Given the description of an element on the screen output the (x, y) to click on. 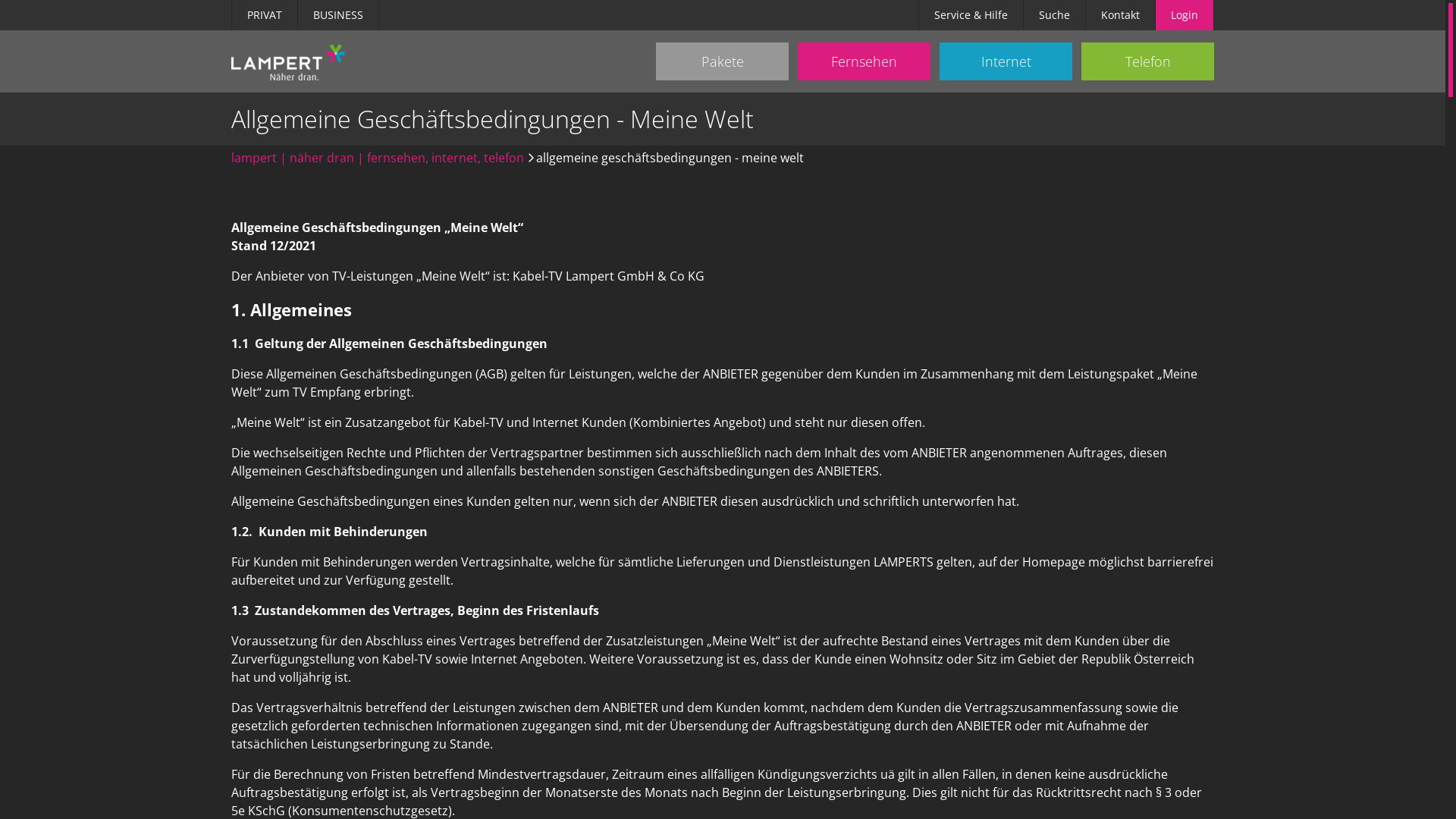
Telefon Element type: text (1147, 61)
Pakete Element type: text (721, 61)
Suche Element type: text (1054, 15)
Service & Hilfe Element type: text (970, 15)
PRIVAT Element type: text (264, 15)
Login Element type: text (1184, 15)
Internet Element type: text (1005, 61)
Fernsehen Element type: text (863, 61)
Kontakt Element type: text (1119, 15)
BUSINESS Element type: text (338, 15)
